Given the description of an element on the screen output the (x, y) to click on. 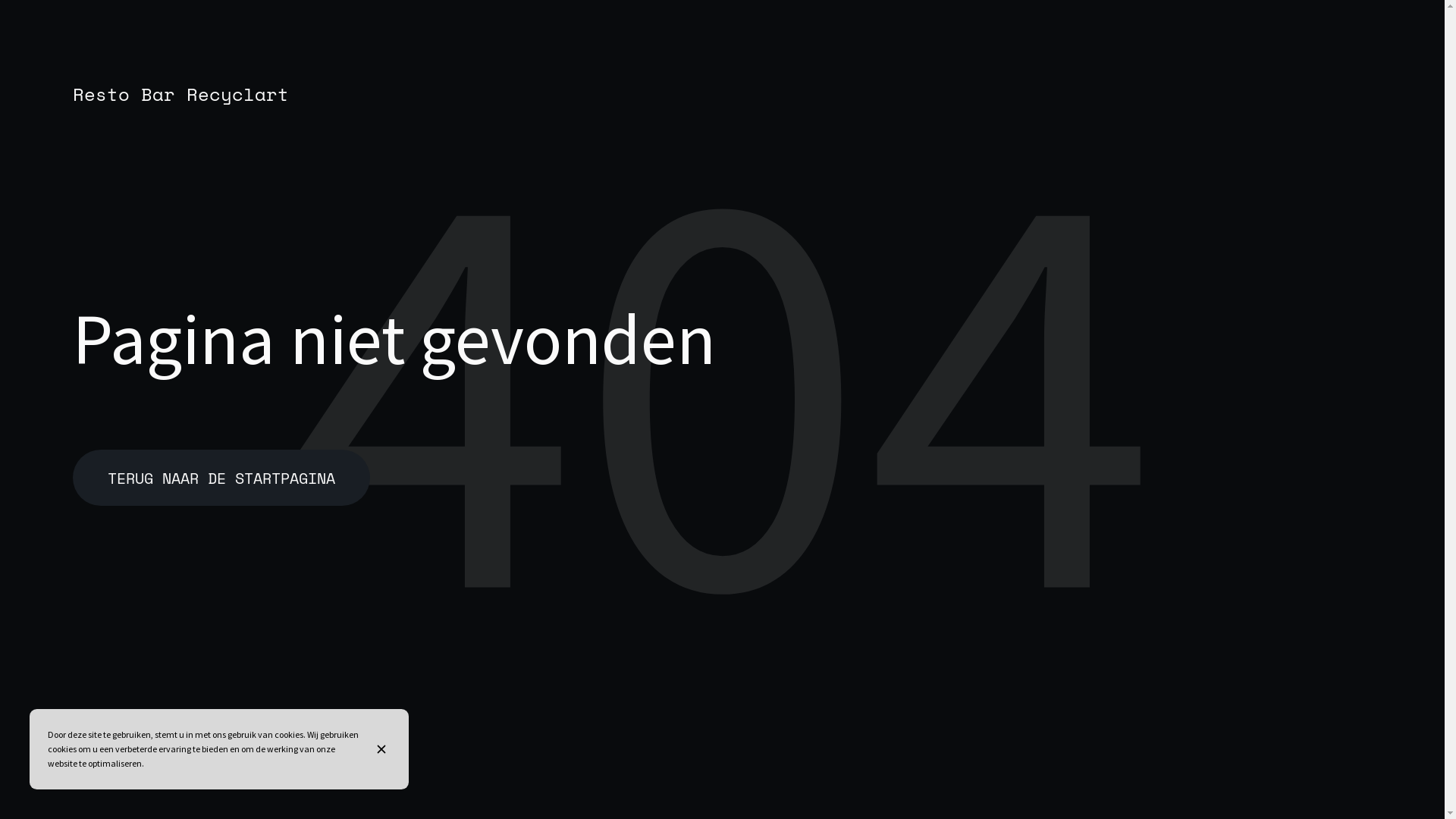
Sluit de banner met cookie-informatie Element type: hover (383, 748)
TERUG NAAR DE STARTPAGINA Element type: text (221, 477)
